Given the description of an element on the screen output the (x, y) to click on. 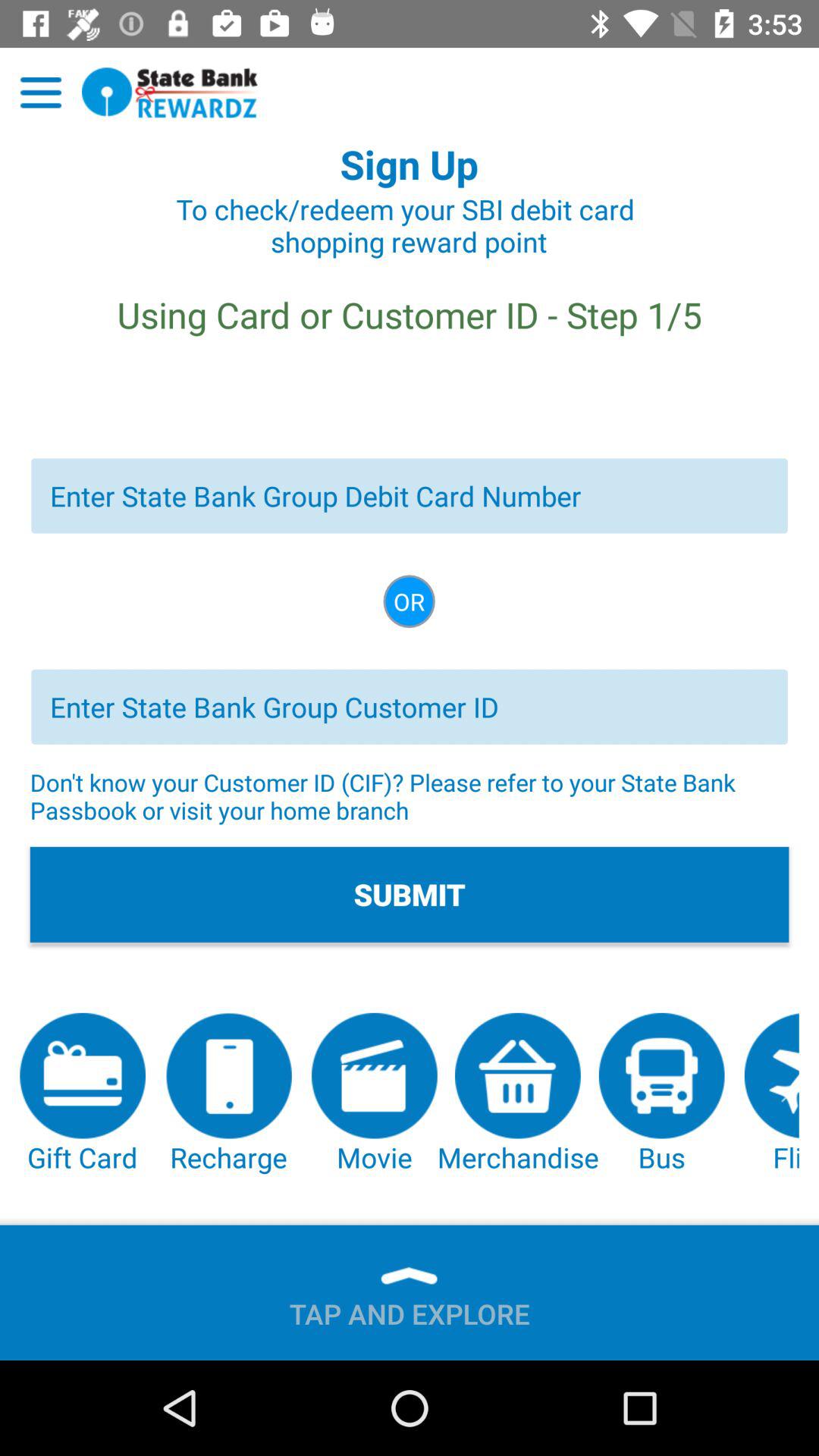
press the app to the right of recharge app (374, 1094)
